Given the description of an element on the screen output the (x, y) to click on. 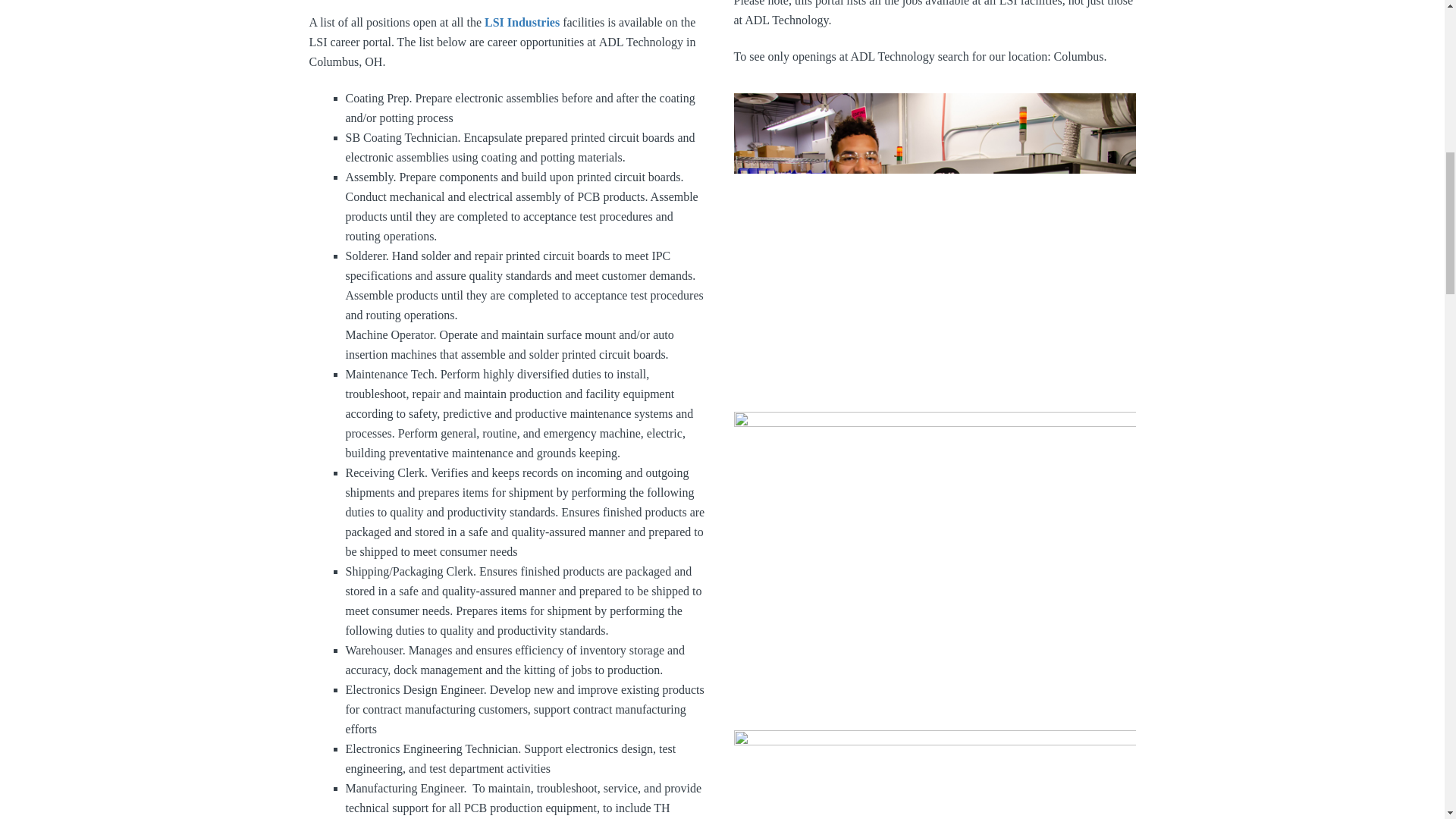
Learn more about working at ADL today! (934, 252)
Do you enjoy detai- oriented work? (934, 570)
ADL has great job opportunities in Columbus OH (934, 774)
